Given the description of an element on the screen output the (x, y) to click on. 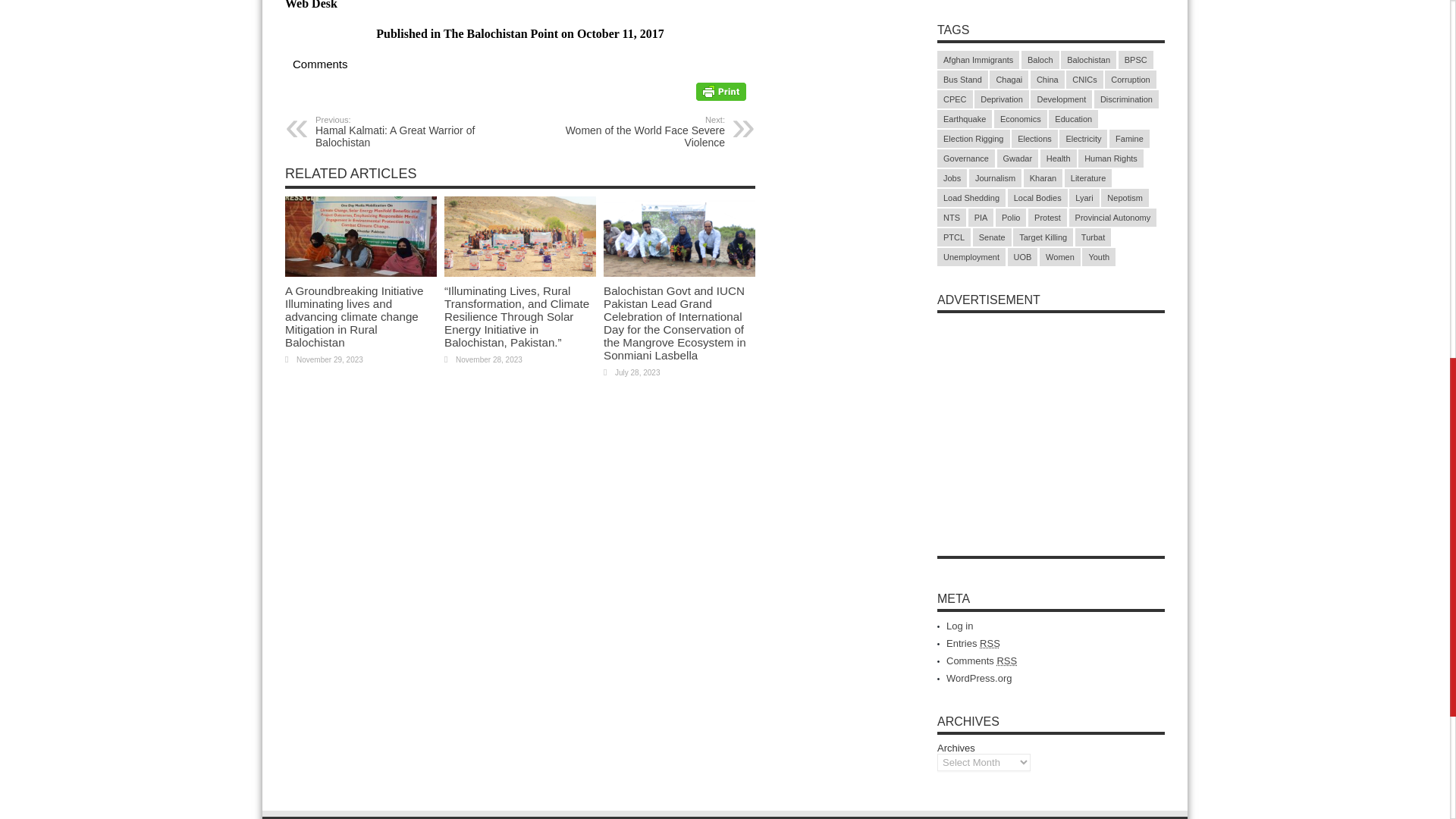
Advertisement (1050, 415)
Really Simple Syndication (989, 643)
Really Simple Syndication (407, 131)
